Given the description of an element on the screen output the (x, y) to click on. 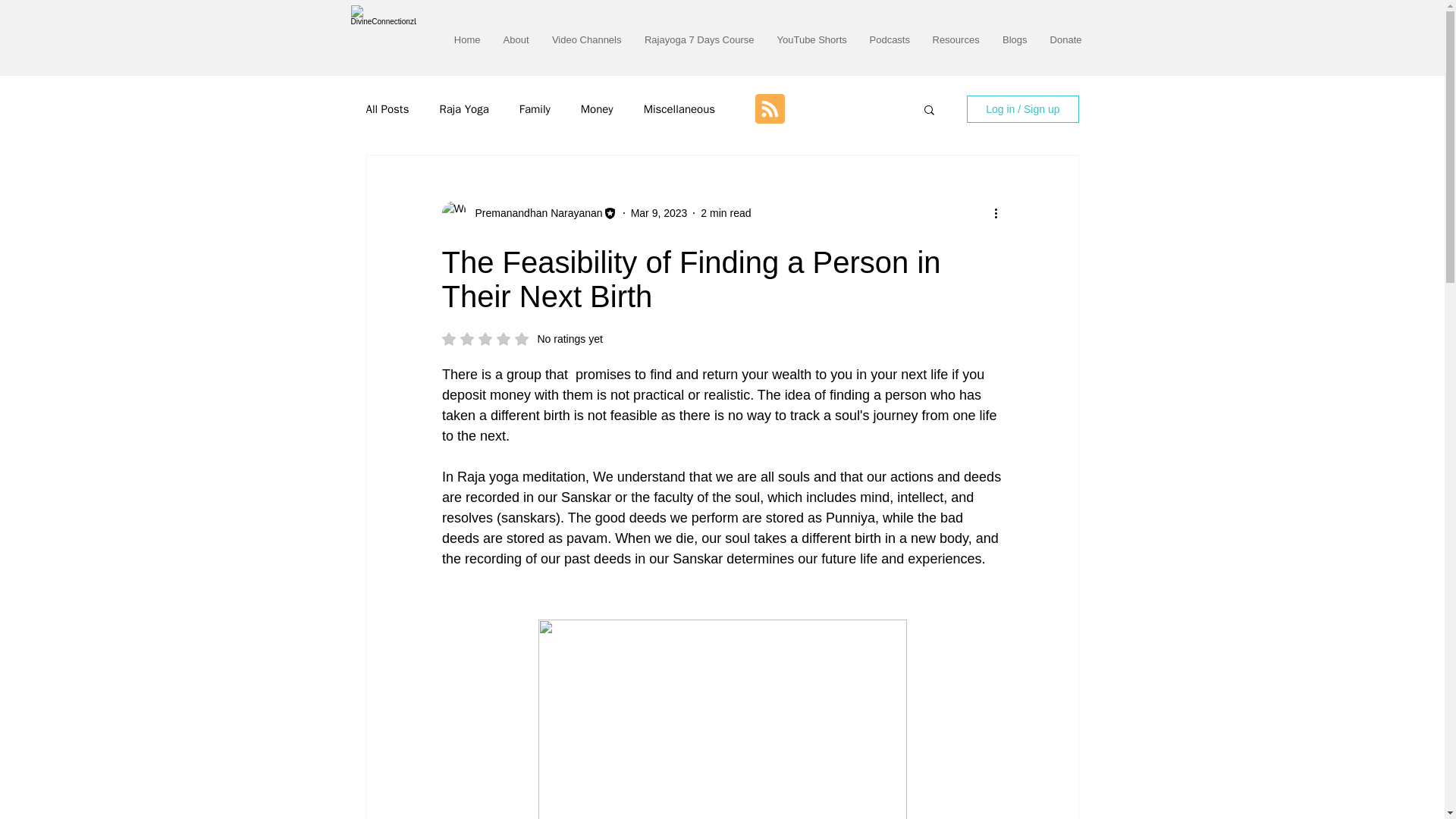
Premanandhan Narayanan (533, 212)
All Posts (387, 108)
Resources (955, 39)
About (516, 39)
Home (467, 39)
Money (596, 108)
Miscellaneous (678, 108)
Mar 9, 2023 (658, 212)
2 min read (725, 212)
Donate (1066, 39)
